Given the description of an element on the screen output the (x, y) to click on. 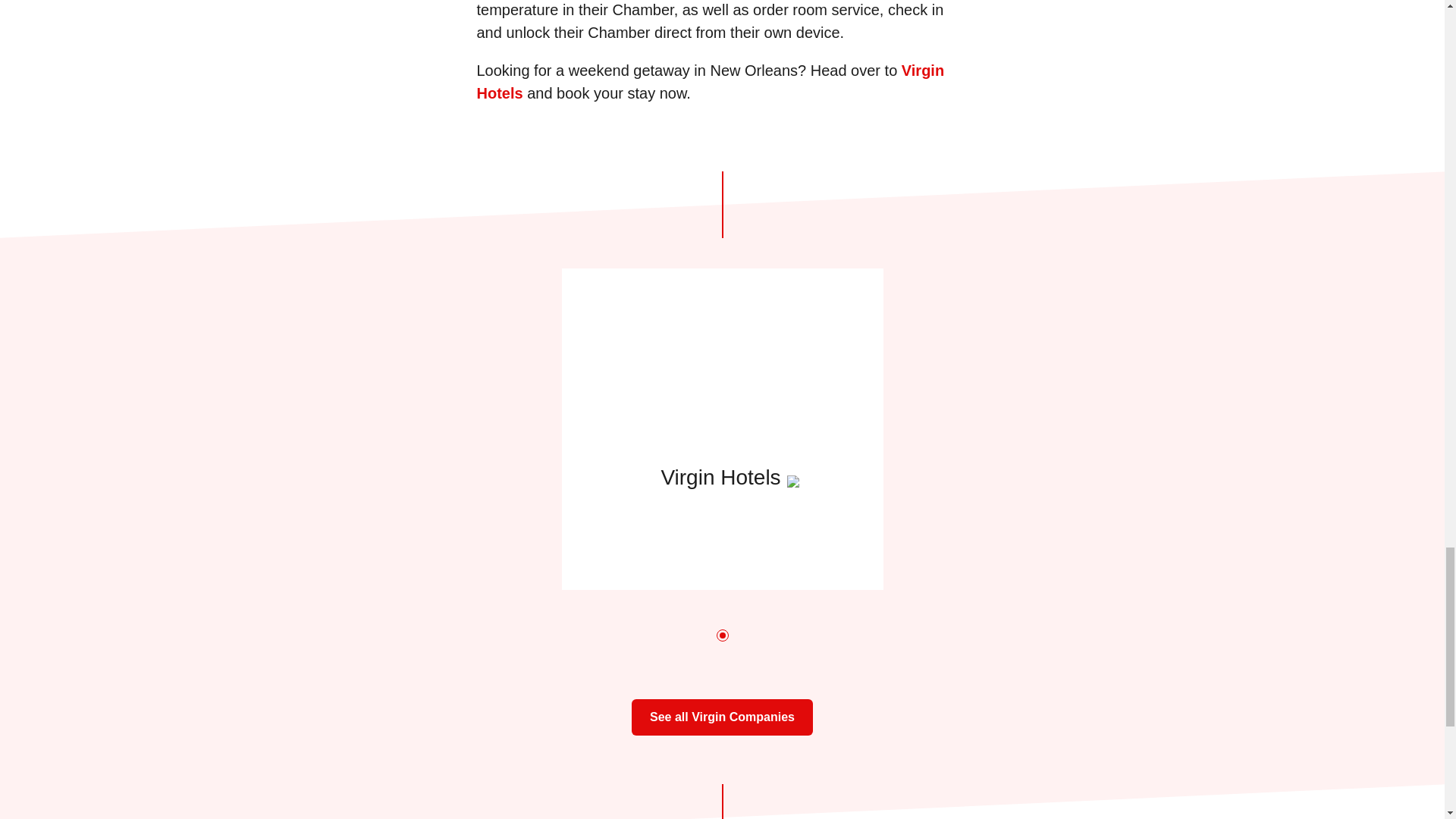
Virgin Hotels (709, 81)
See all Virgin Companies (721, 716)
Virgin Hotels (721, 428)
